Given the description of an element on the screen output the (x, y) to click on. 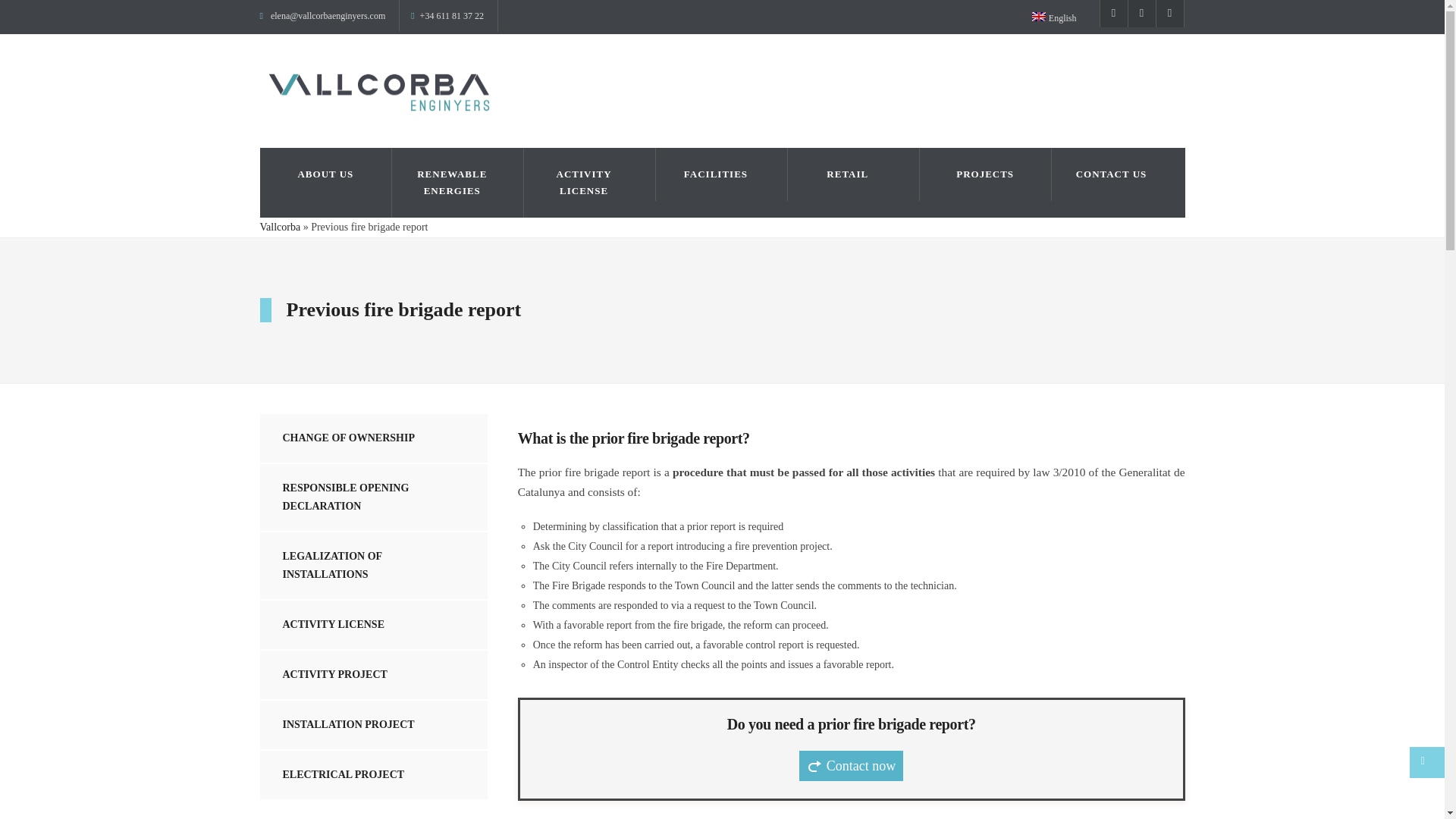
Instagram (1141, 13)
English (1038, 16)
ABOUT US (325, 174)
LinkedIn (1170, 13)
Facebook (1113, 13)
English (1059, 17)
RENEWABLE ENERGIES (457, 182)
ACTIVITY LICENSE (589, 182)
English (1059, 17)
